Given the description of an element on the screen output the (x, y) to click on. 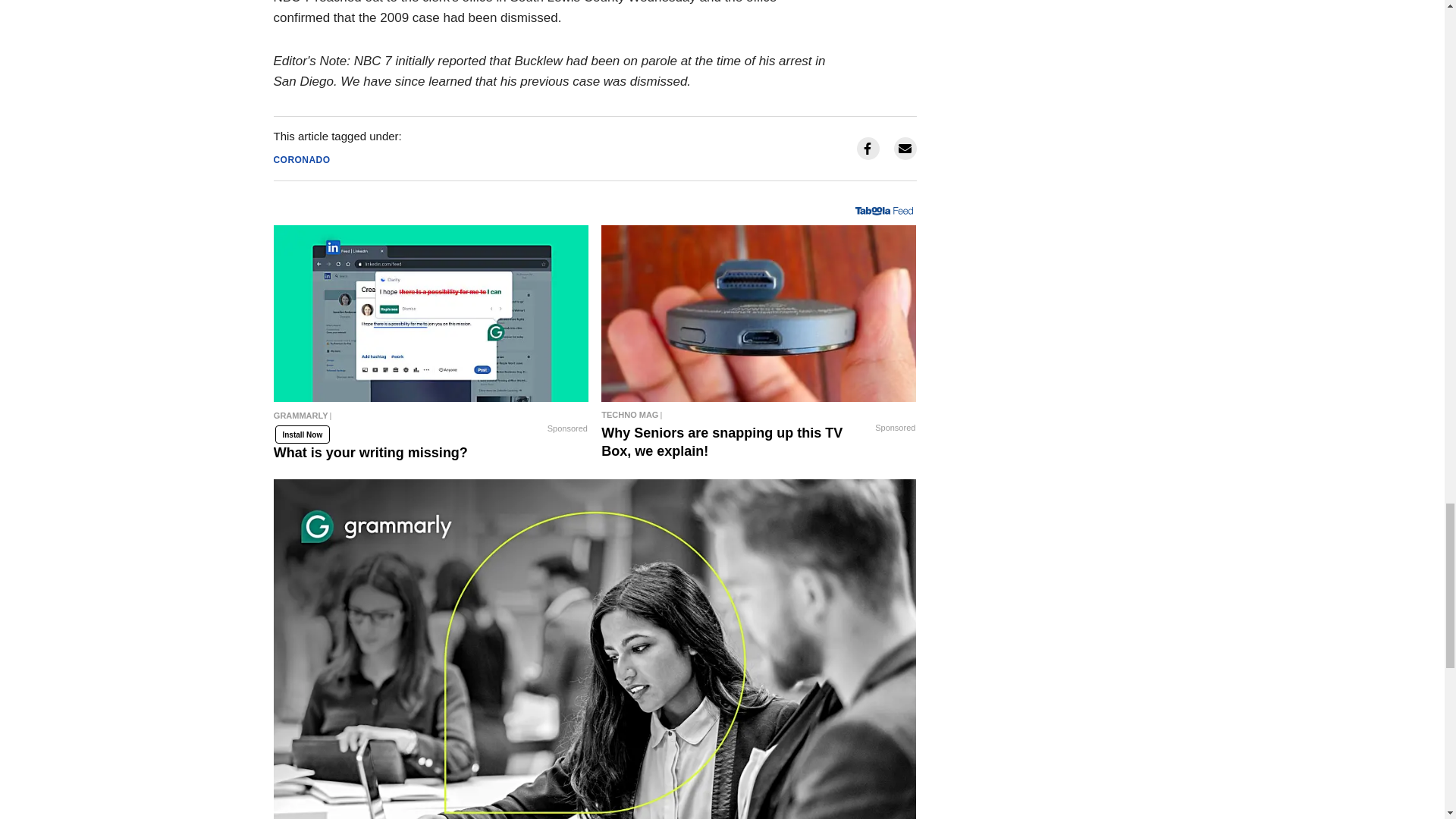
Why Seniors are snapping up this TV Box, we explain! (758, 414)
What is your writing missing? (430, 419)
CORONADO (301, 159)
